Given the description of an element on the screen output the (x, y) to click on. 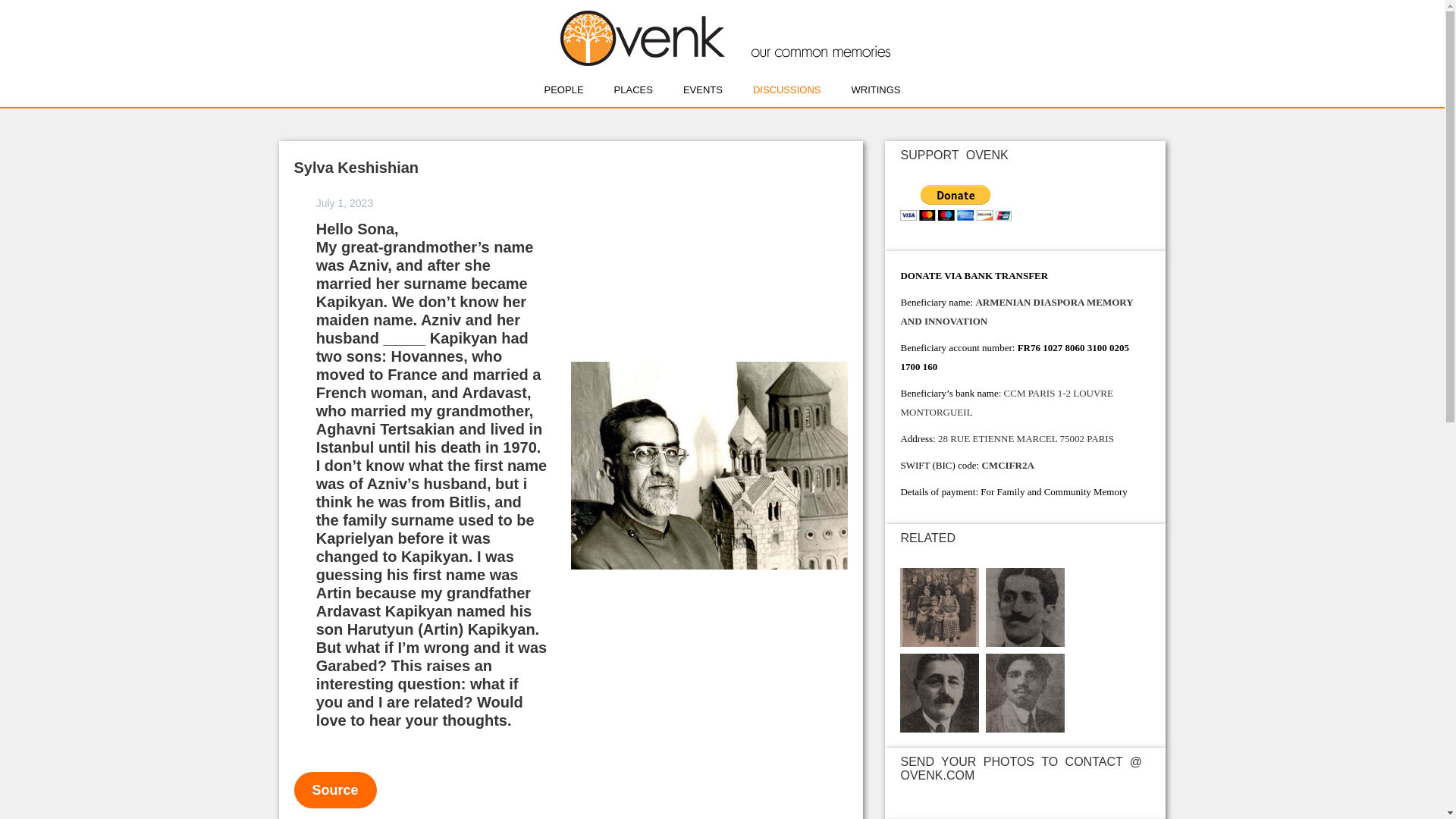
ARMENIAN PLACES (633, 89)
PEOPLE (563, 89)
DISCUSSIONS (786, 89)
YOUR QUESTIONS AND COMMENTS (786, 89)
ARMENIAN WRITINGS (874, 89)
ARMENIAN EVENTS (702, 89)
Source (335, 790)
Khosrov Keshishian from Malatia (1024, 606)
Doctor Mikael Keshishian from Malatia (938, 692)
ARMENIAN PEOPLE (563, 89)
